Given the description of an element on the screen output the (x, y) to click on. 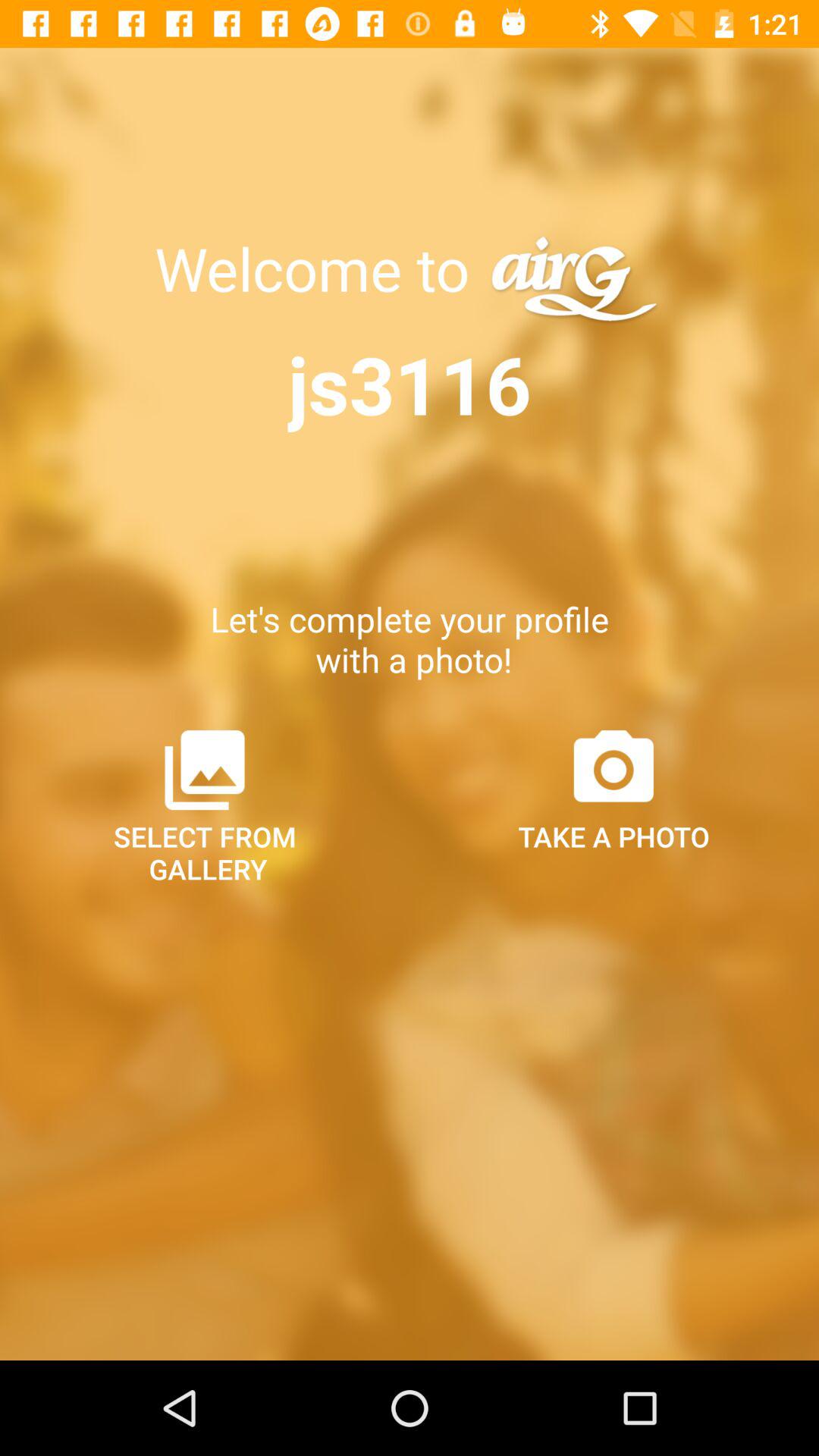
open icon above the js3116 item (319, 268)
